Given the description of an element on the screen output the (x, y) to click on. 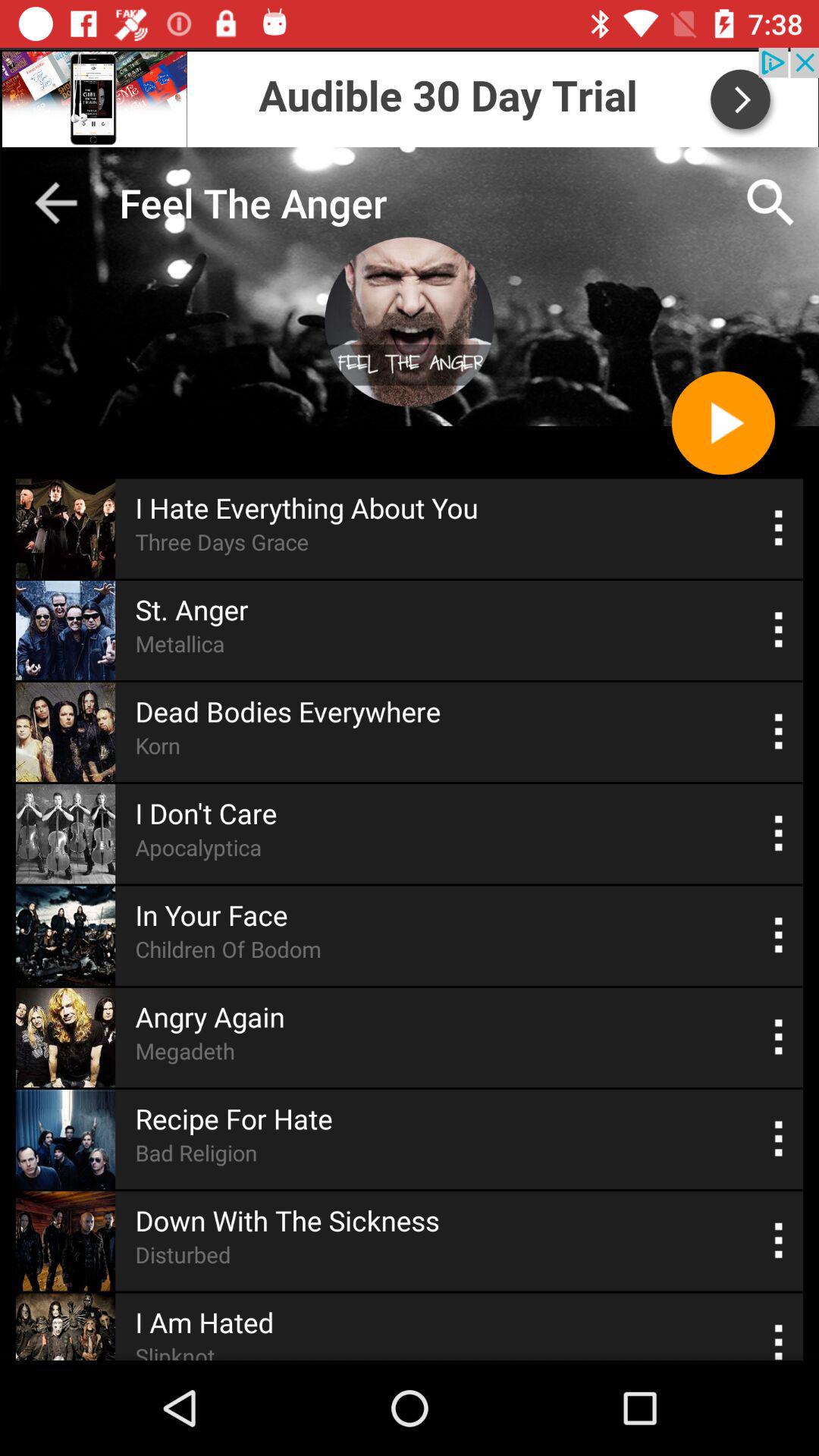
get more options for music track (779, 731)
